Given the description of an element on the screen output the (x, y) to click on. 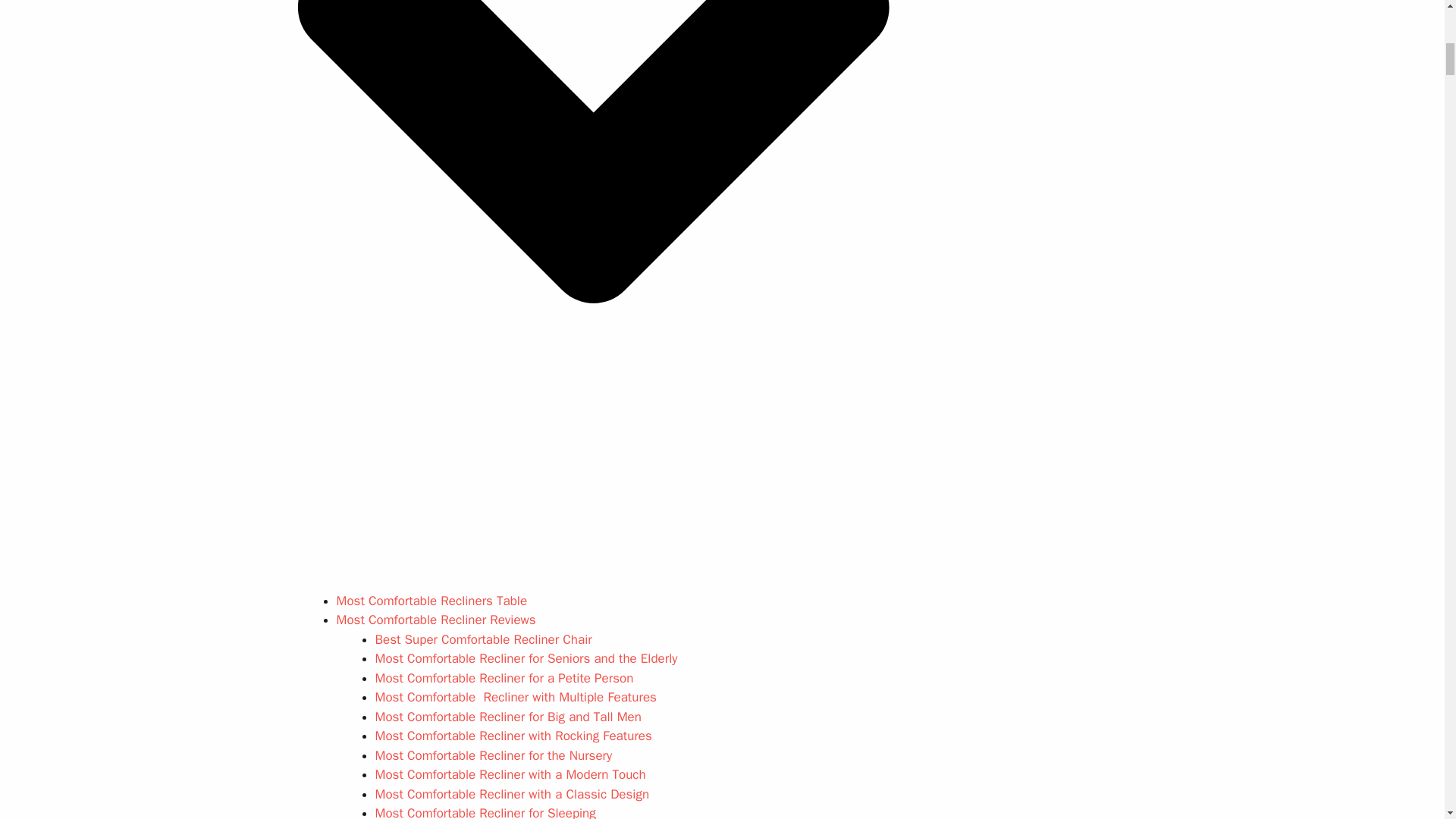
Most Comfortable Recliner for Big and Tall Men (507, 716)
Most Comfortable Recliner with a Classic Design (511, 794)
Most Comfortable Recliner for the Nursery (492, 755)
Most Comfortable Recliner with a Modern Touch (509, 774)
Best Super Comfortable Recliner Chair (482, 639)
Most Comfortable Recliner for a Petite Person (503, 678)
Most Comfortable Recliner with Rocking Features (512, 735)
Most Comfortable Recliner Reviews (435, 619)
Most Comfortable Recliners Table (431, 600)
Most Comfortable Recliner for Seniors and the Elderly (525, 658)
Most Comfortable  Recliner with Multiple Features (515, 697)
